Given the description of an element on the screen output the (x, y) to click on. 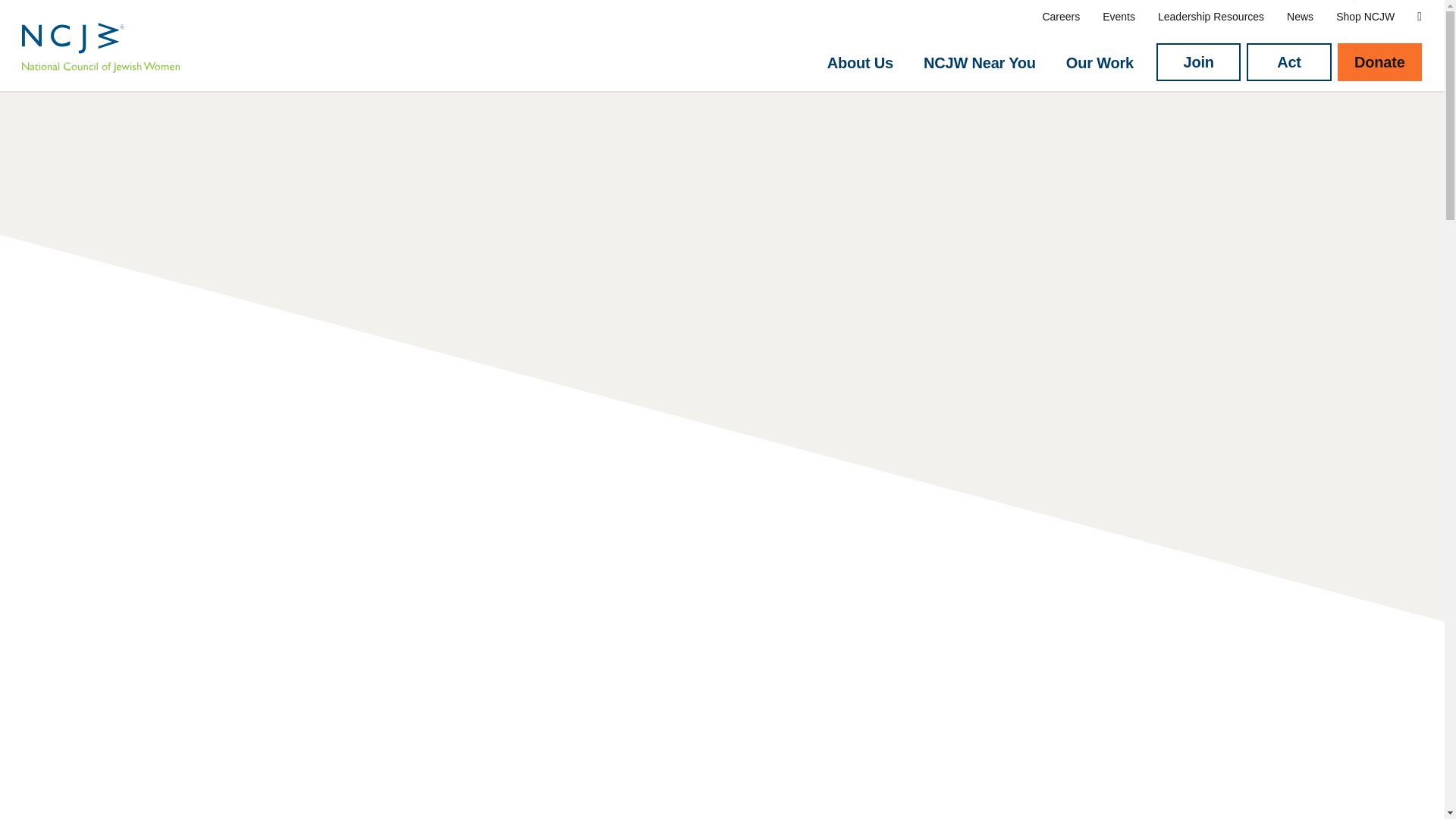
Events (1118, 16)
Careers (1061, 16)
Join (1198, 62)
Our Work (1099, 62)
Leadership Resources (1210, 16)
Donate (1380, 62)
NCJW Near You (979, 62)
Act (1288, 62)
Shop NCJW (1365, 16)
News (1300, 16)
